Given the description of an element on the screen output the (x, y) to click on. 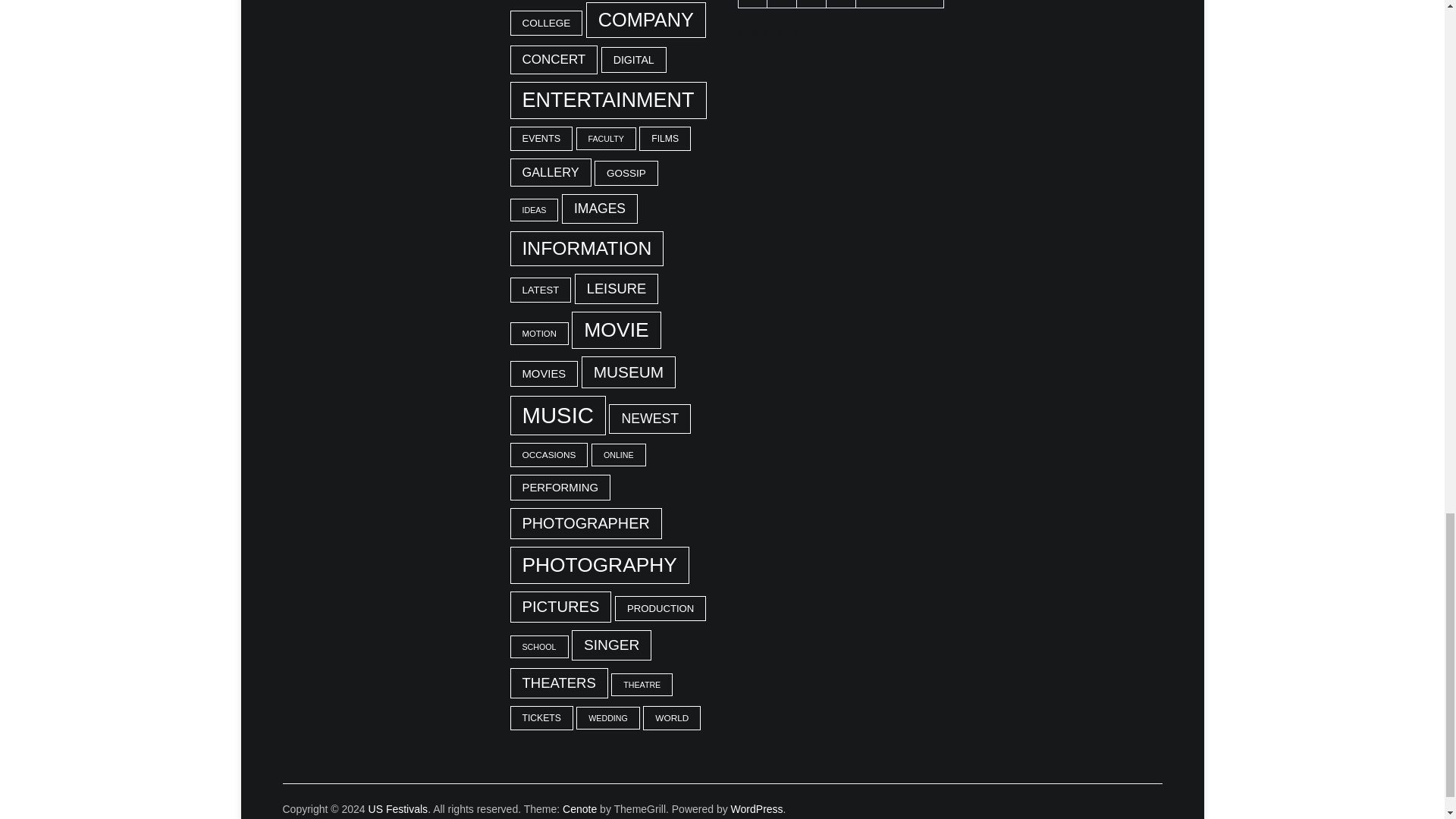
US Festivals (398, 808)
